Given the description of an element on the screen output the (x, y) to click on. 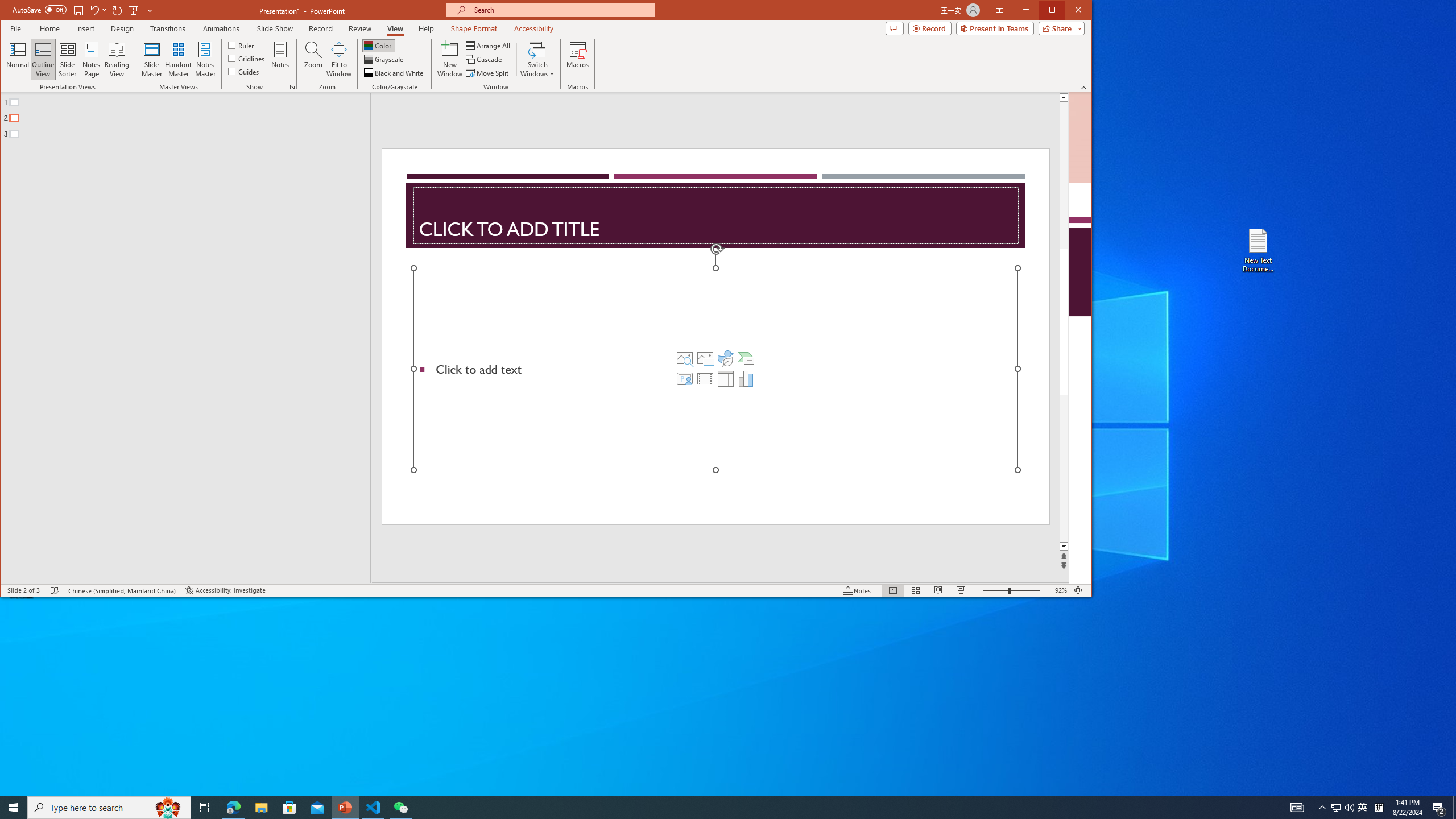
Macros (576, 59)
Switch Windows (537, 59)
